Given the description of an element on the screen output the (x, y) to click on. 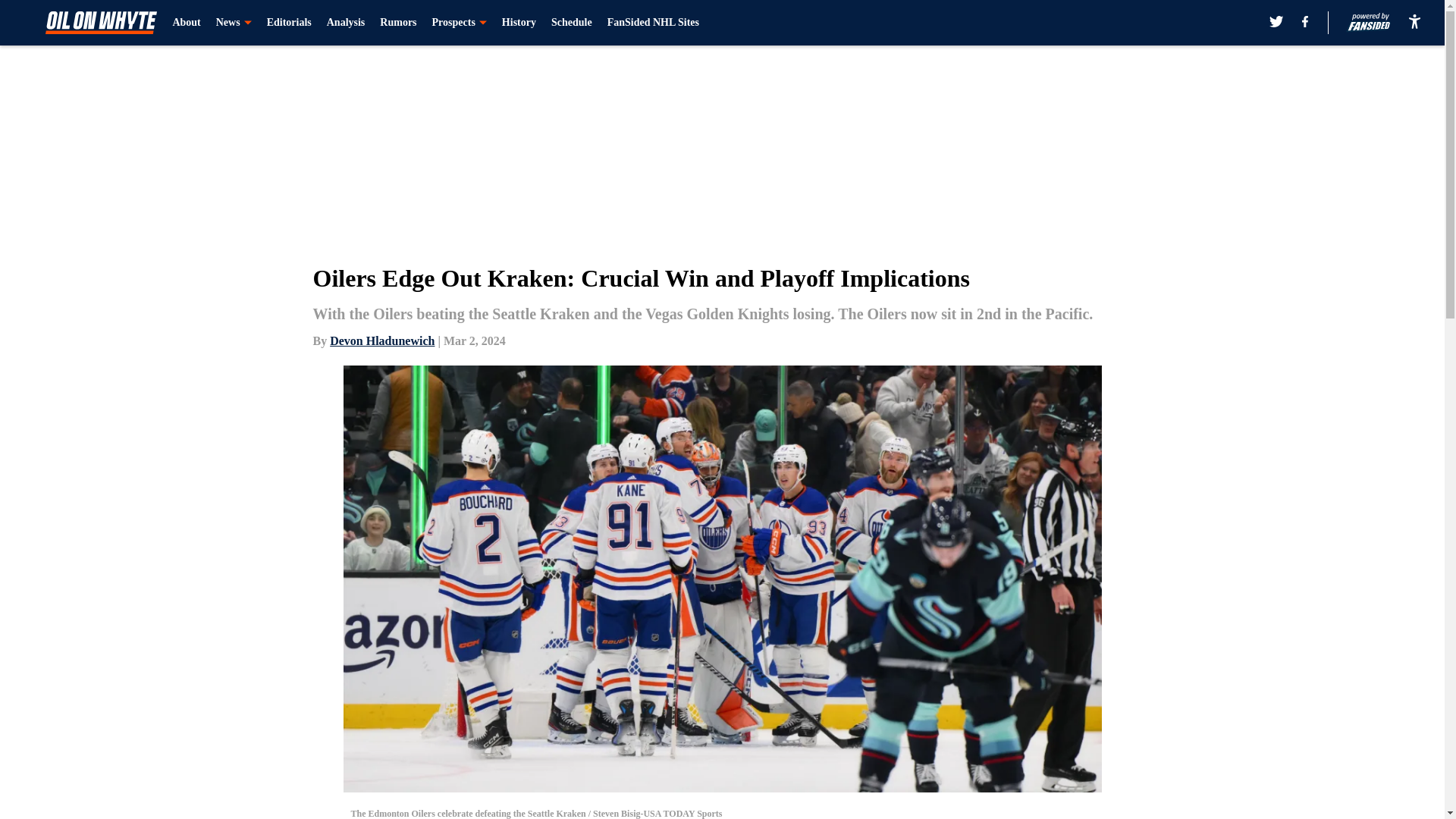
About (185, 22)
Analysis (345, 22)
History (518, 22)
Schedule (571, 22)
Editorials (288, 22)
Rumors (398, 22)
FanSided NHL Sites (652, 22)
Devon Hladunewich (381, 340)
